Given the description of an element on the screen output the (x, y) to click on. 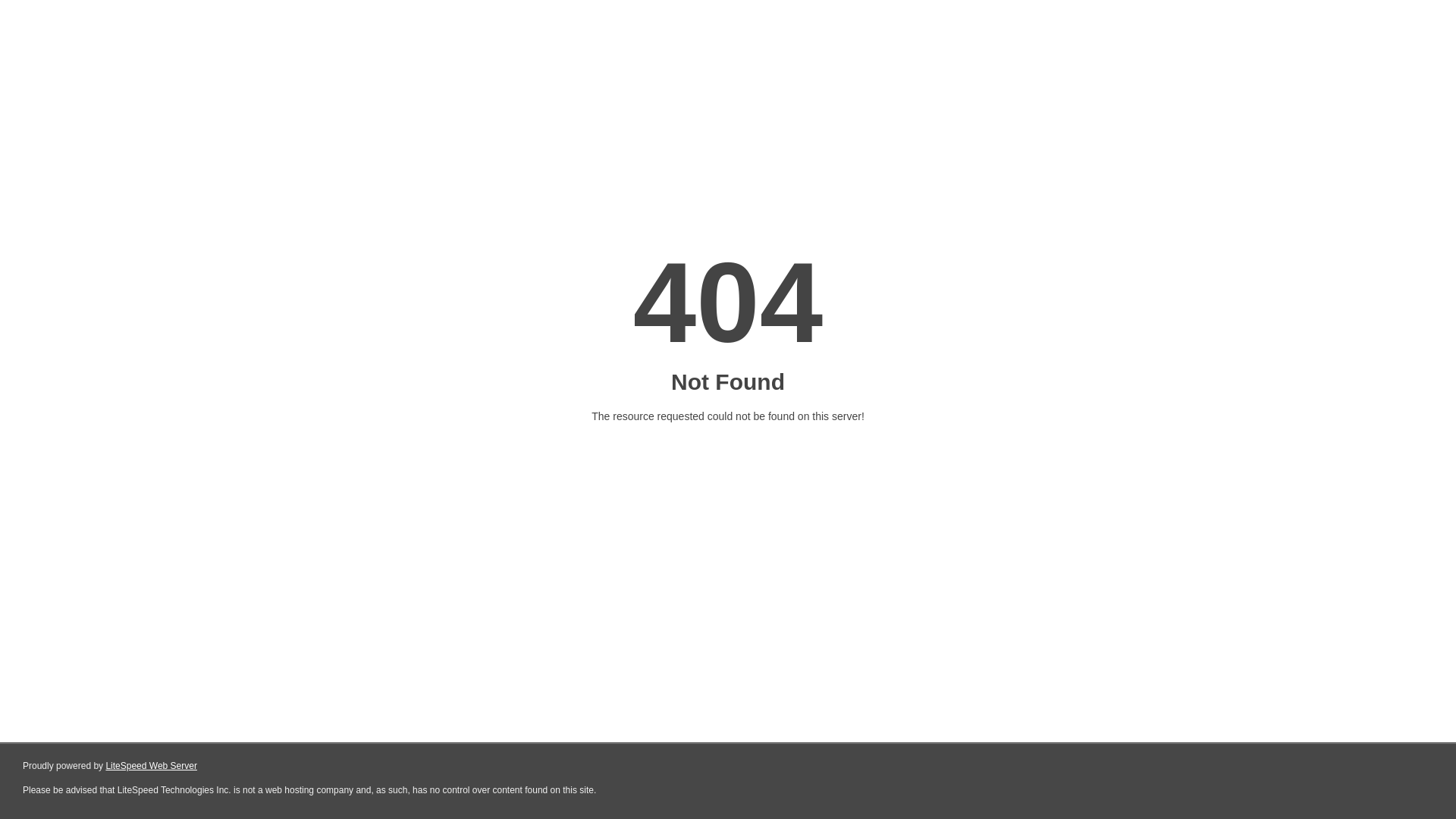
LiteSpeed Web Server Element type: text (151, 765)
